Given the description of an element on the screen output the (x, y) to click on. 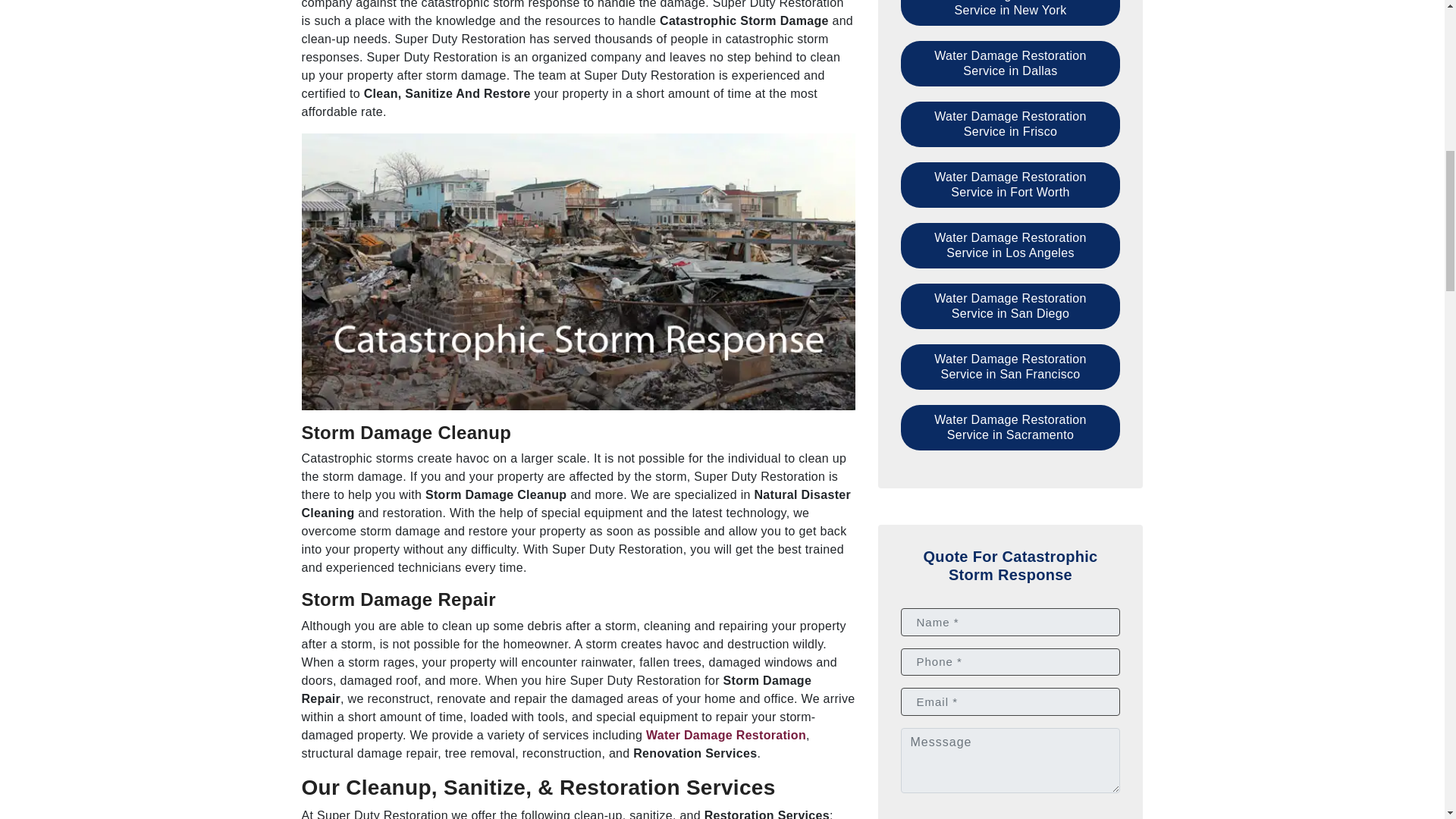
Water Damage Restoration Service in Los Angeles (1011, 245)
Water Damage Restoration Service in Frisco (1011, 124)
Water Damage Restoration Service in Sacramento (1011, 427)
Water Damage Restoration Service in Dallas (1011, 63)
Water Damage Restoration Service in New York (1011, 12)
Water Damage Restoration Service in Fort Worth (1011, 185)
Water Damage Restoration Service in San Francisco (1011, 366)
Water Damage Restoration Service in San Diego (1011, 306)
Water Damage Restoration (726, 735)
